Given the description of an element on the screen output the (x, y) to click on. 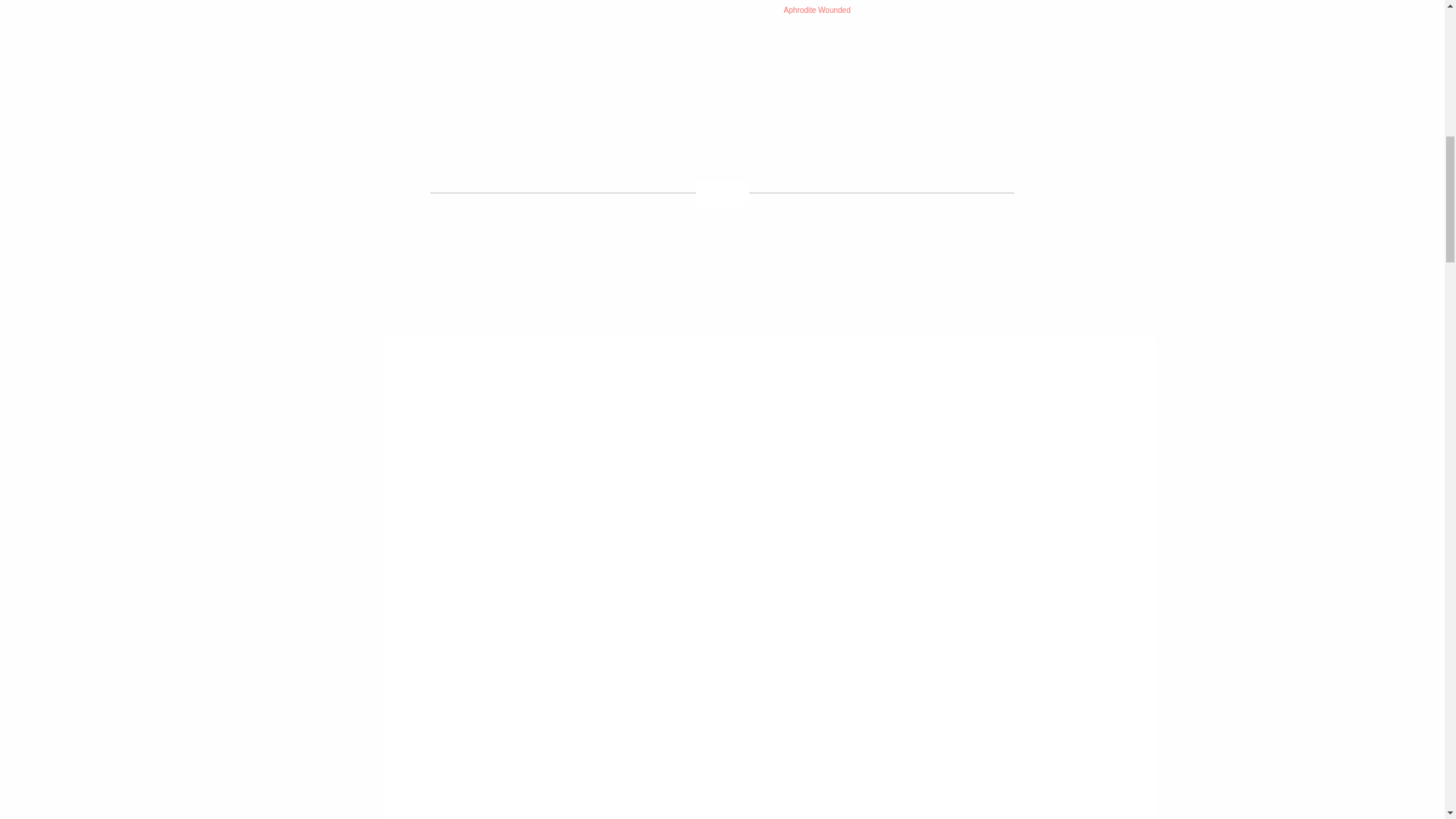
Aphrodite Wounded (817, 9)
Aphrodite Wounded (817, 9)
